Given the description of an element on the screen output the (x, y) to click on. 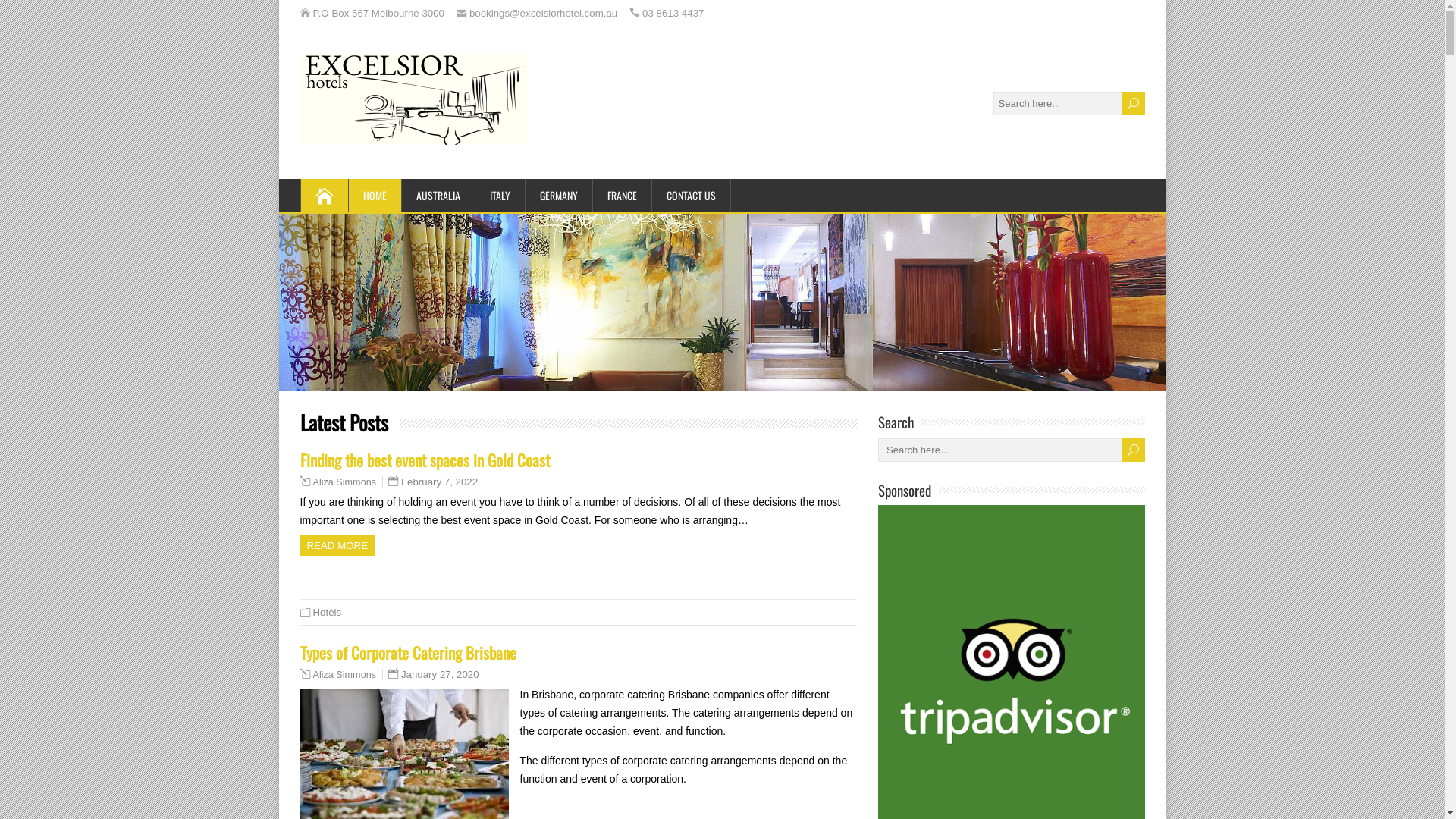
Aliza Simmons Element type: text (344, 481)
Hotels Element type: text (326, 612)
January 27, 2020 Element type: text (440, 674)
CONTACT US Element type: text (691, 195)
February 7, 2022 Element type: text (439, 481)
ITALY Element type: text (499, 195)
AUSTRALIA Element type: text (438, 195)
Finding the best event spaces in Gold Coast Element type: text (424, 459)
U Element type: text (1132, 449)
U Element type: text (1132, 103)
Types of Corporate Catering Brisbane Element type: text (408, 652)
FRANCE Element type: text (622, 195)
Aliza Simmons Element type: text (344, 674)
READ MORE Element type: text (337, 545)
GERMANY Element type: text (558, 195)
HOME Element type: text (374, 195)
